Given the description of an element on the screen output the (x, y) to click on. 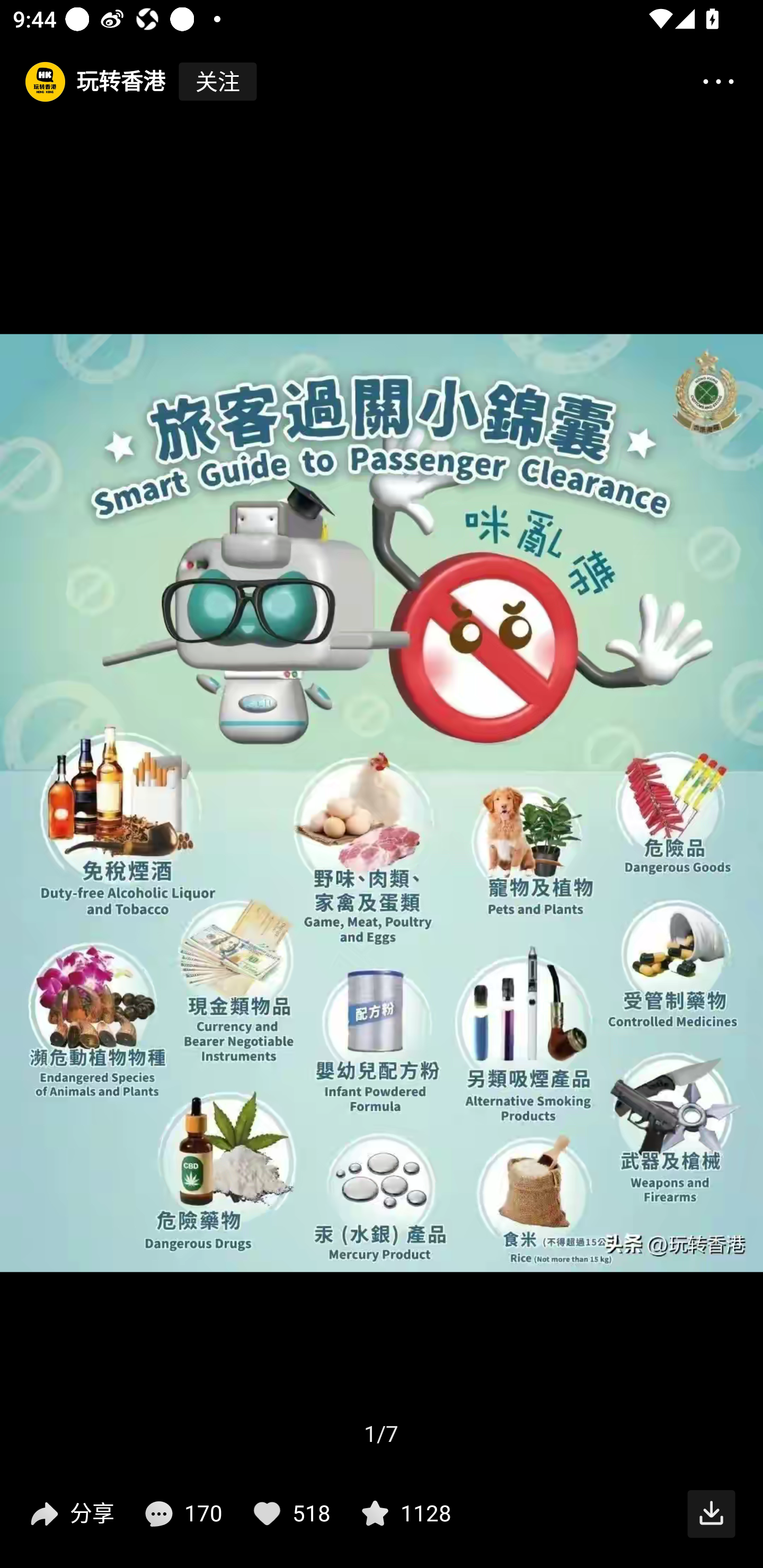
玩转香港 关注 关注 (128, 81)
关注 (217, 81)
分享 (69, 1513)
评论,170 170 (180, 1513)
收藏,1128 1128 (403, 1513)
